Given the description of an element on the screen output the (x, y) to click on. 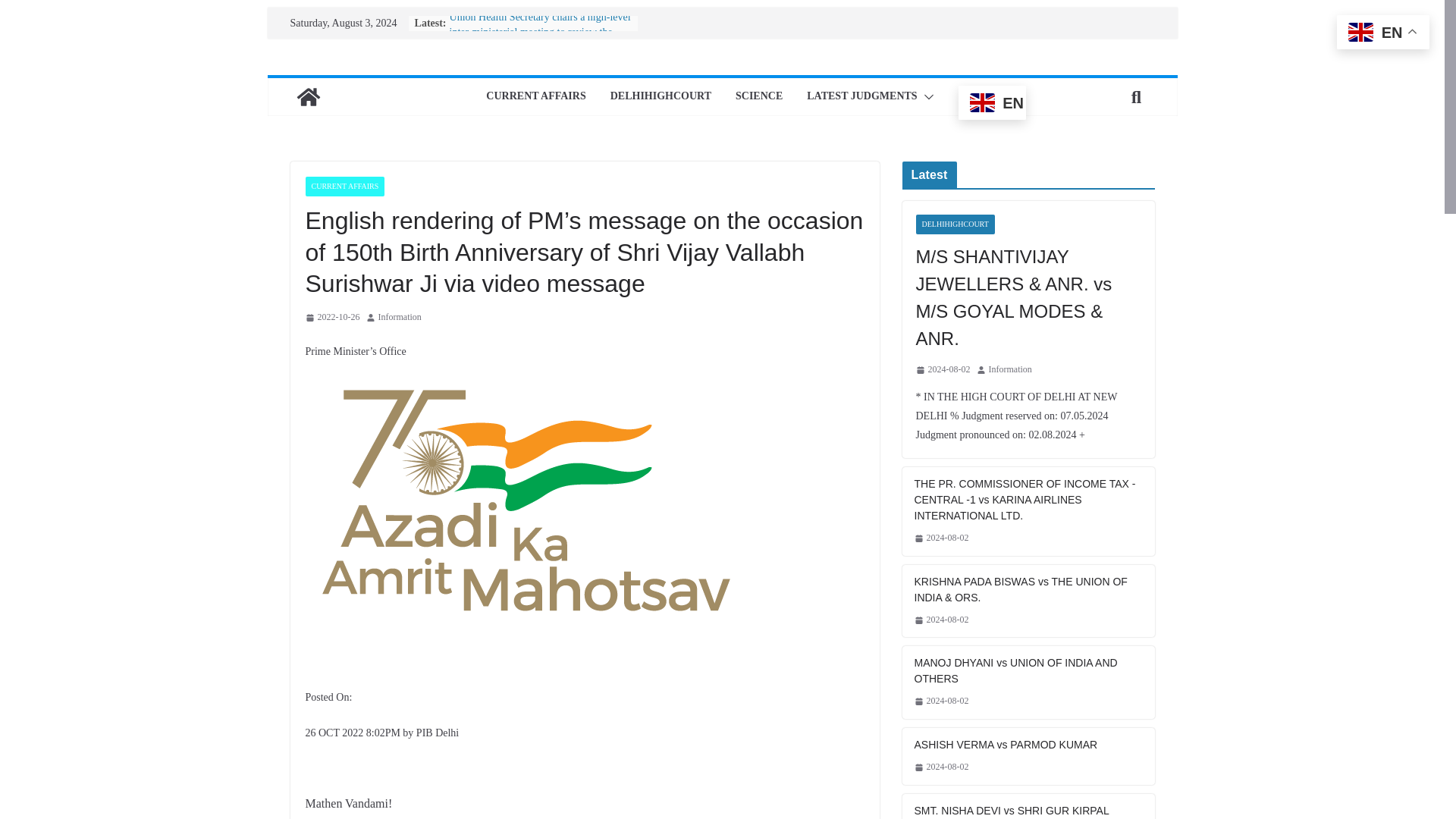
Information (1010, 369)
2024-08-02 (941, 538)
LATEST JUDGMENTS (861, 96)
2024-08-02 (941, 767)
DELHIHIGHCOURT (660, 96)
8:03 PM (943, 369)
2:33 PM (941, 538)
DELHIHIGHCOURT (954, 224)
Information (398, 317)
SCIENCE (759, 96)
2022-10-26 (331, 317)
MANOJ DHYANI vs UNION OF INDIA AND OTHERS (1028, 671)
